Given the description of an element on the screen output the (x, y) to click on. 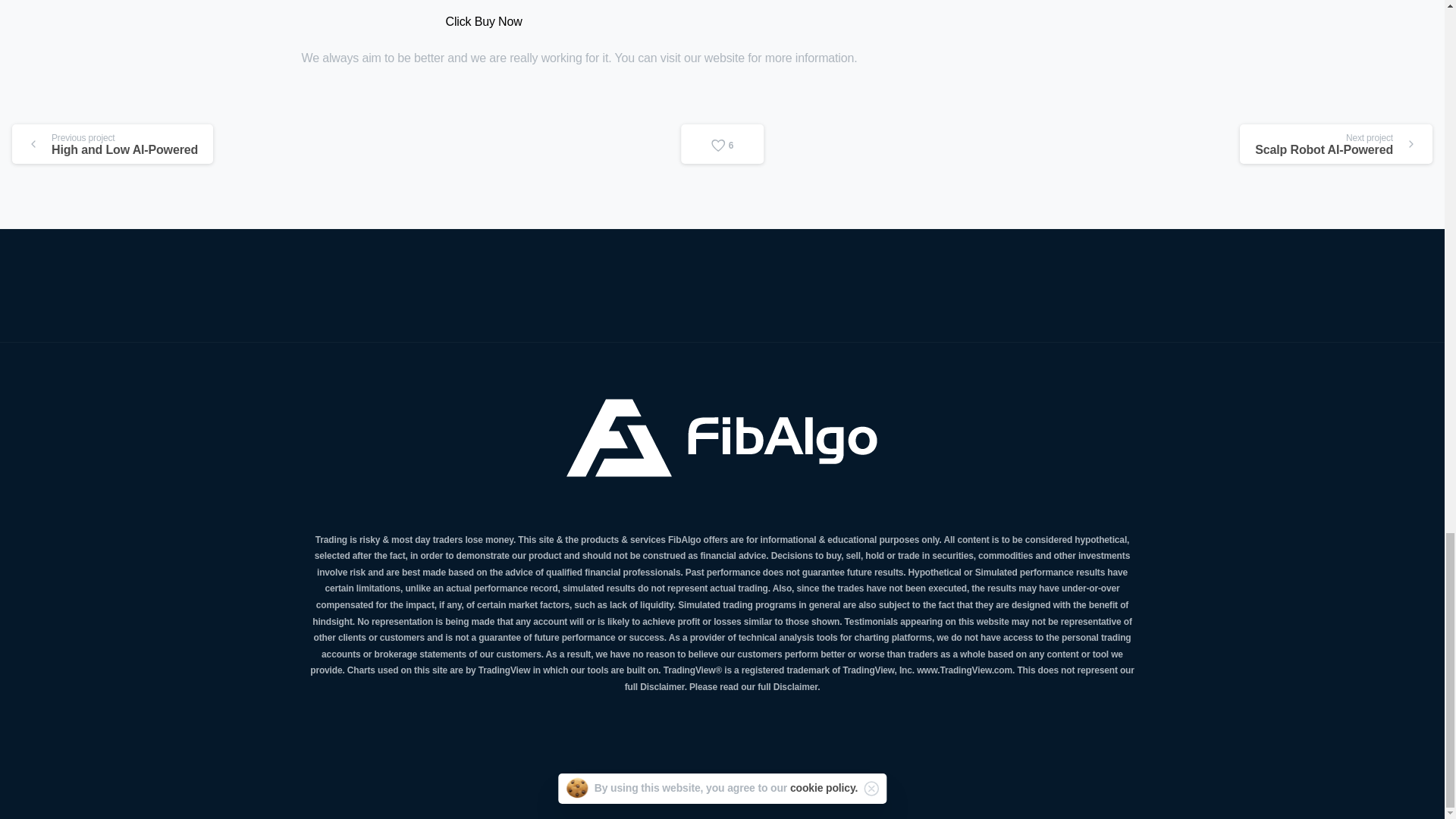
Like this (722, 143)
Click Buy Now (483, 21)
6 (722, 143)
